Given the description of an element on the screen output the (x, y) to click on. 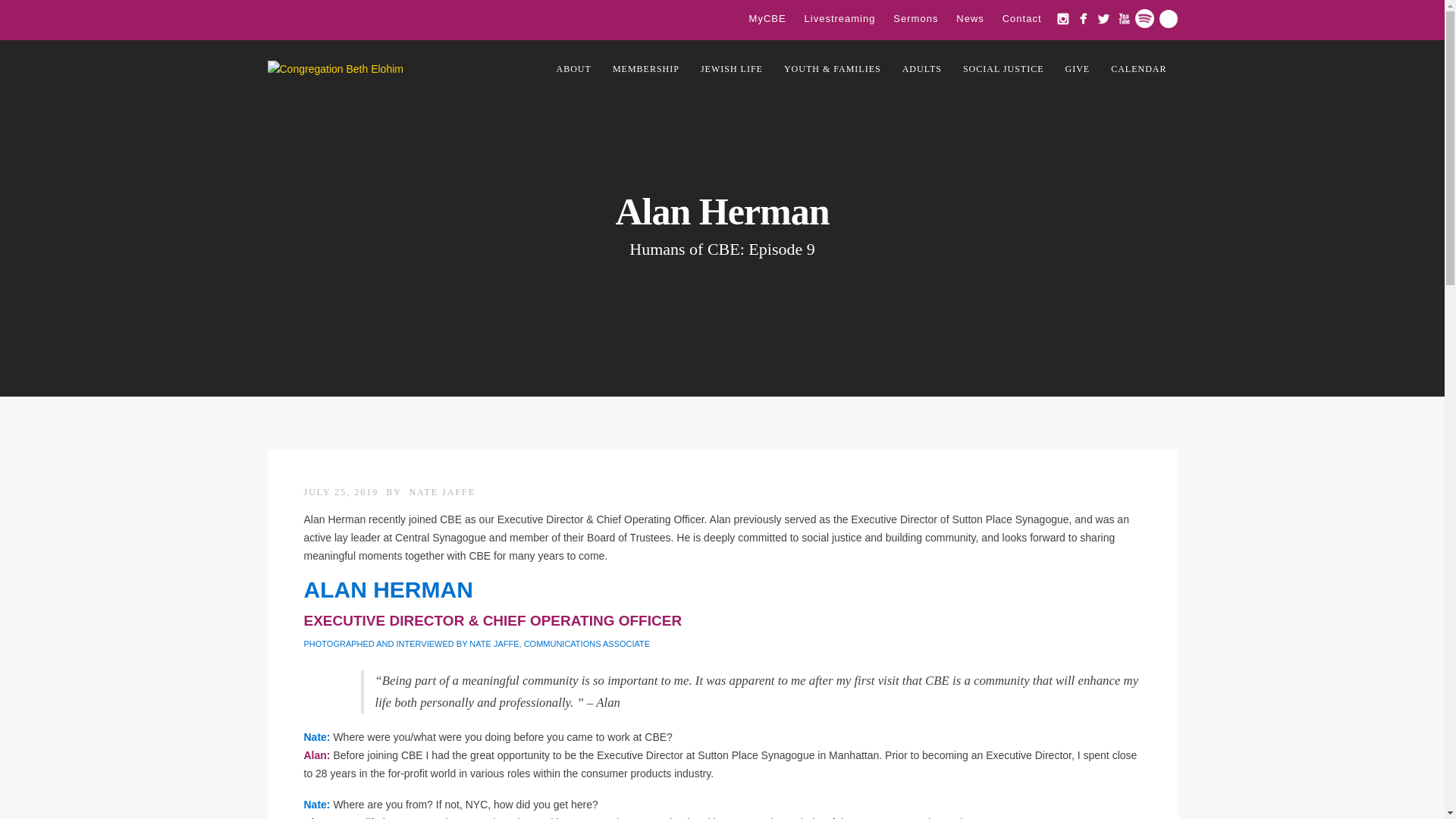
Livestreaming (840, 18)
Facebook (1083, 18)
MEMBERSHIP (646, 68)
Twitter (1102, 18)
Sermons (915, 18)
Instagram (1061, 18)
ABOUT (574, 68)
JEWISH LIFE (731, 68)
YouTube (1124, 18)
Search (1167, 18)
